Given the description of an element on the screen output the (x, y) to click on. 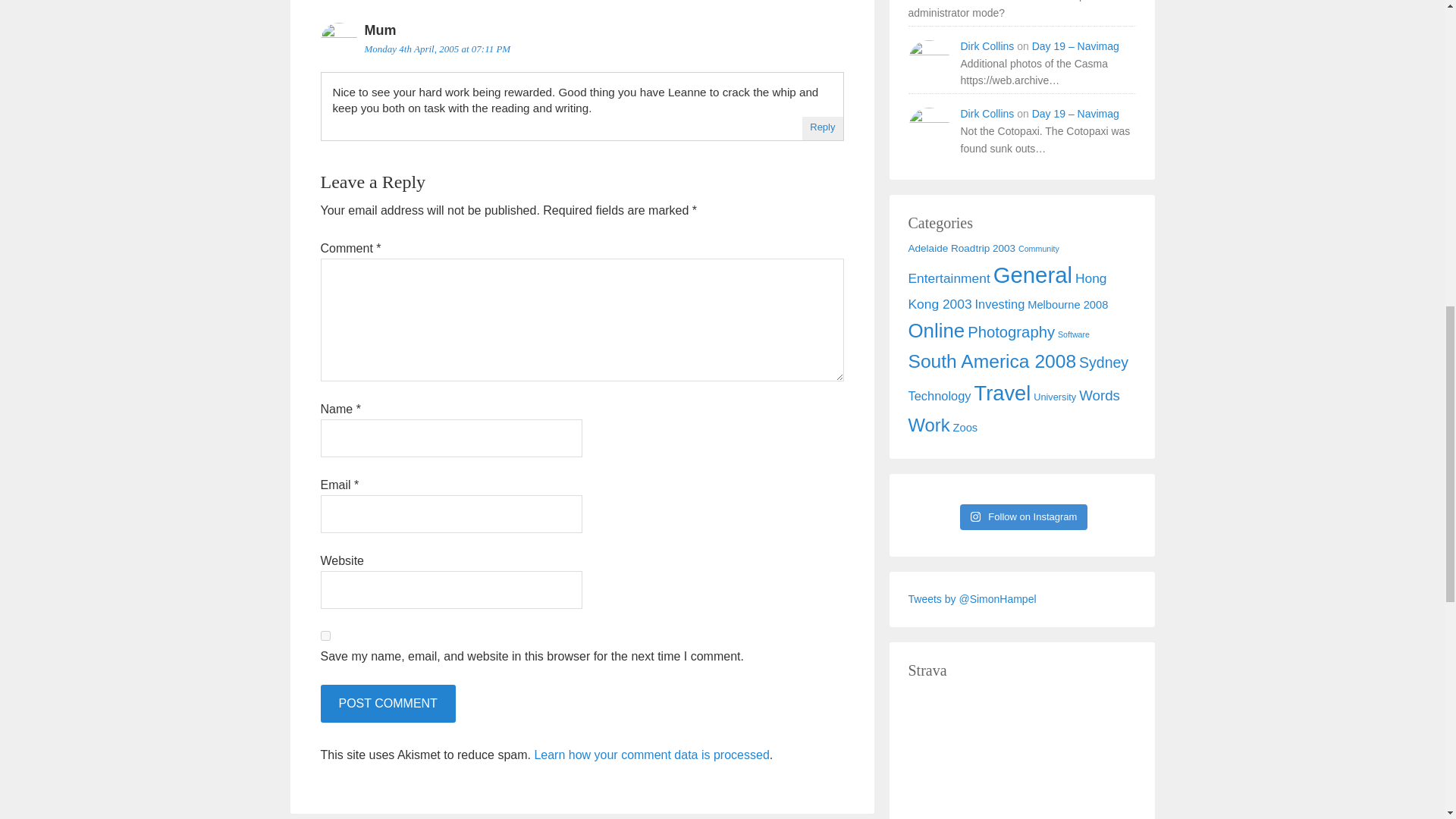
Monday 4th April, 2005 at 07:11 PM (437, 48)
Reply (821, 126)
yes (325, 635)
Post Comment (387, 703)
Post Comment (387, 703)
Learn how your comment data is processed (651, 754)
